Given the description of an element on the screen output the (x, y) to click on. 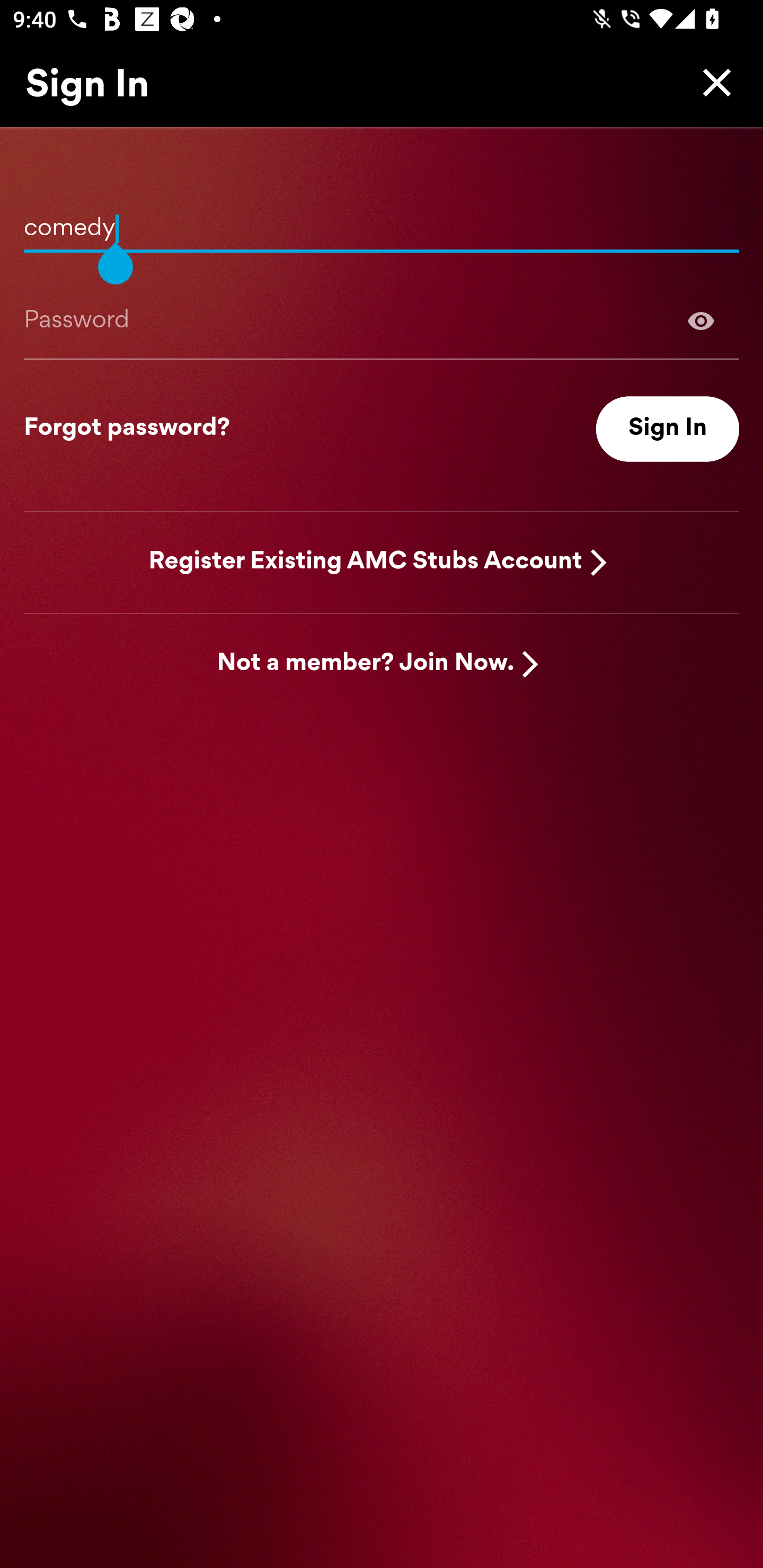
Close (712, 82)
comedy (381, 220)
Show Password (381, 320)
Show Password (701, 320)
Forgot password? (126, 428)
Sign In (667, 428)
Register Existing AMC Stubs Account (365, 561)
Not a member? Join Now. (365, 663)
